Given the description of an element on the screen output the (x, y) to click on. 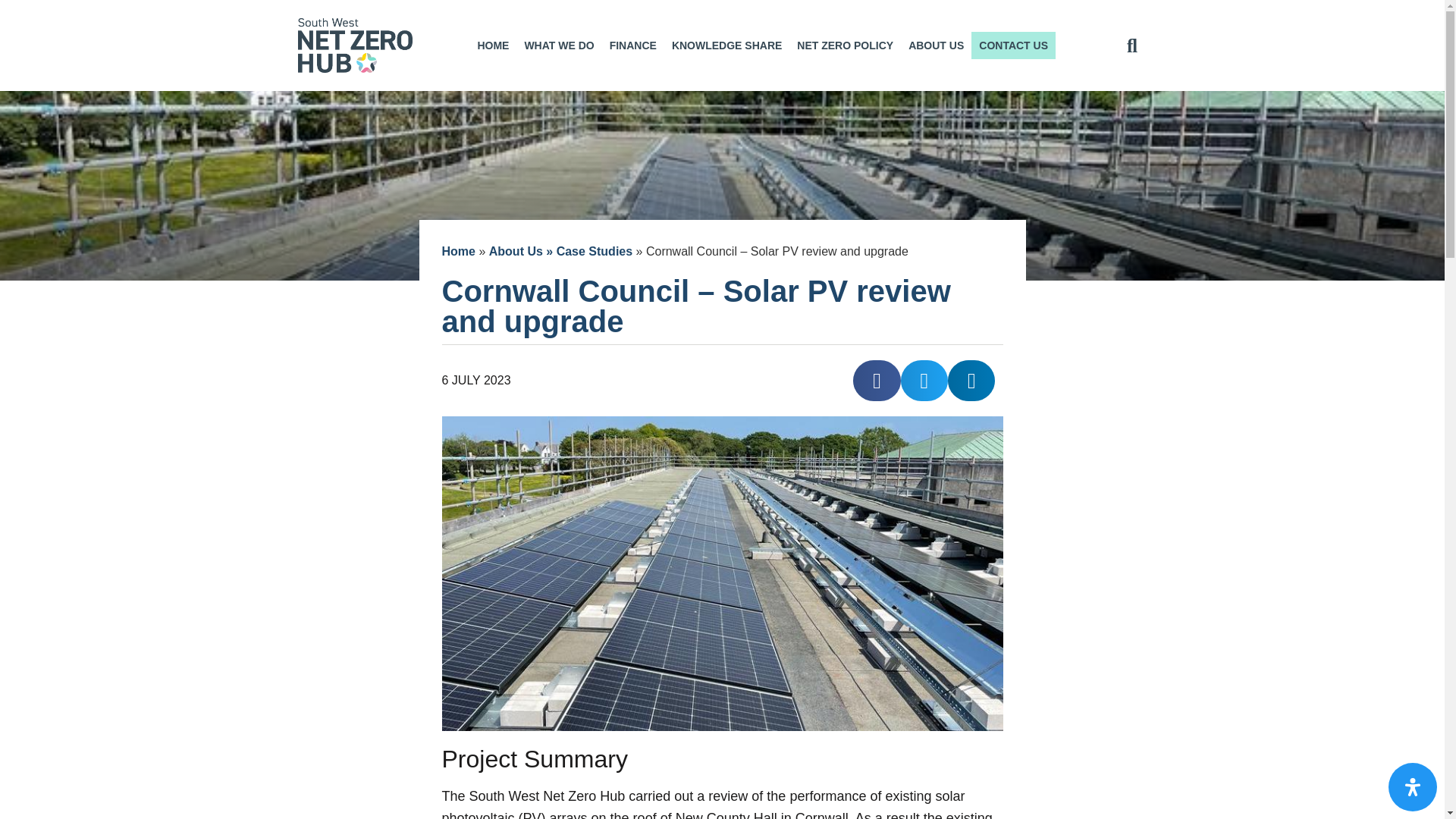
ABOUT US (936, 44)
HOME (492, 44)
WHAT WE DO (558, 44)
Accessibility (1413, 786)
NET ZERO POLICY (845, 44)
KNOWLEDGE SHARE (726, 44)
FINANCE (632, 44)
